Given the description of an element on the screen output the (x, y) to click on. 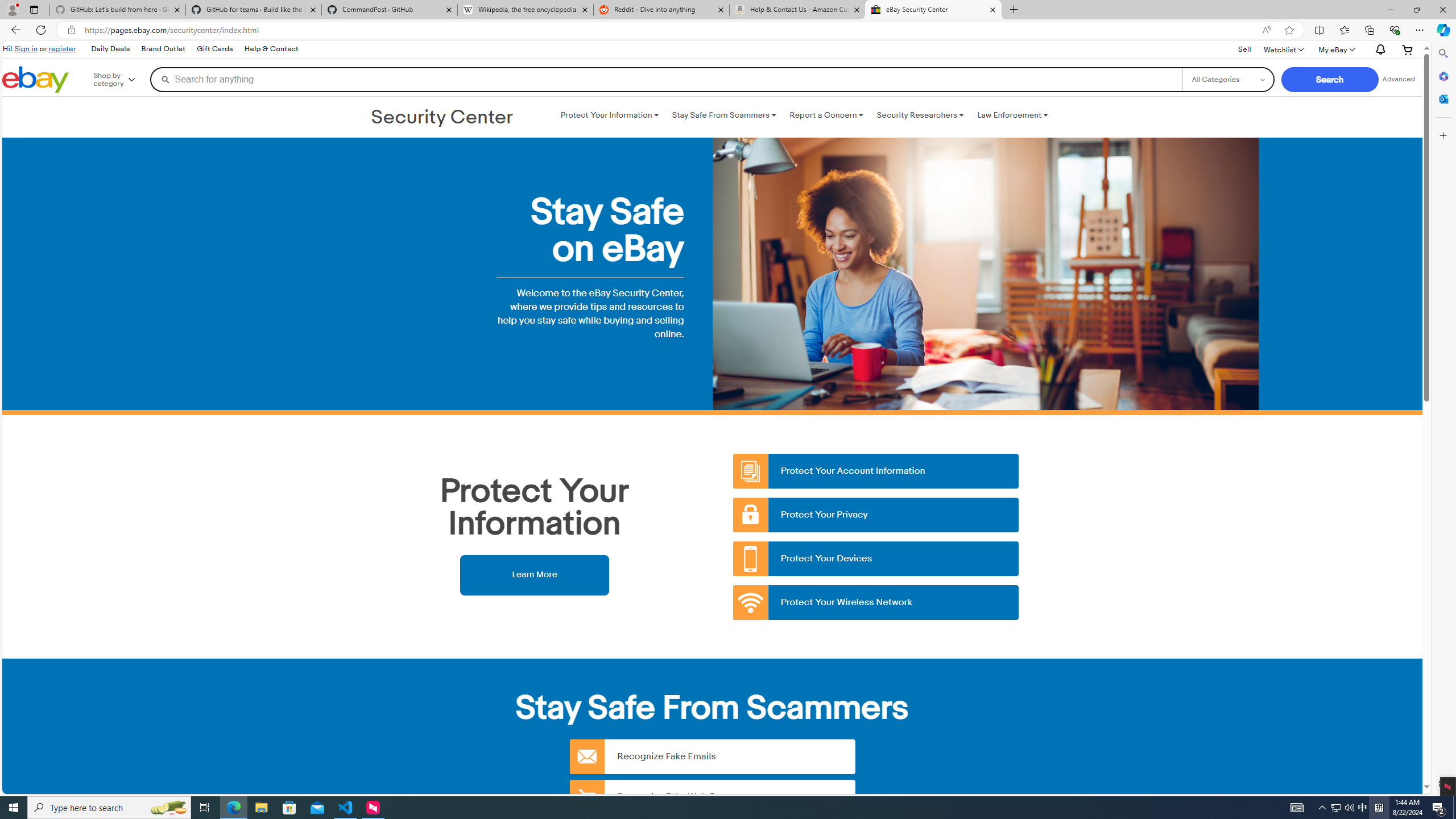
Protect Your Account Information (876, 470)
Help & Contact Us - Amazon Customer Service - Sleeping (797, 9)
eBay Home (35, 79)
eBay Security Center (933, 9)
Expand Cart (1407, 49)
Protect Your Information  (608, 115)
Protect Your Wireless Network (876, 602)
Report a Concern  (826, 115)
Security Center (442, 117)
